Given the description of an element on the screen output the (x, y) to click on. 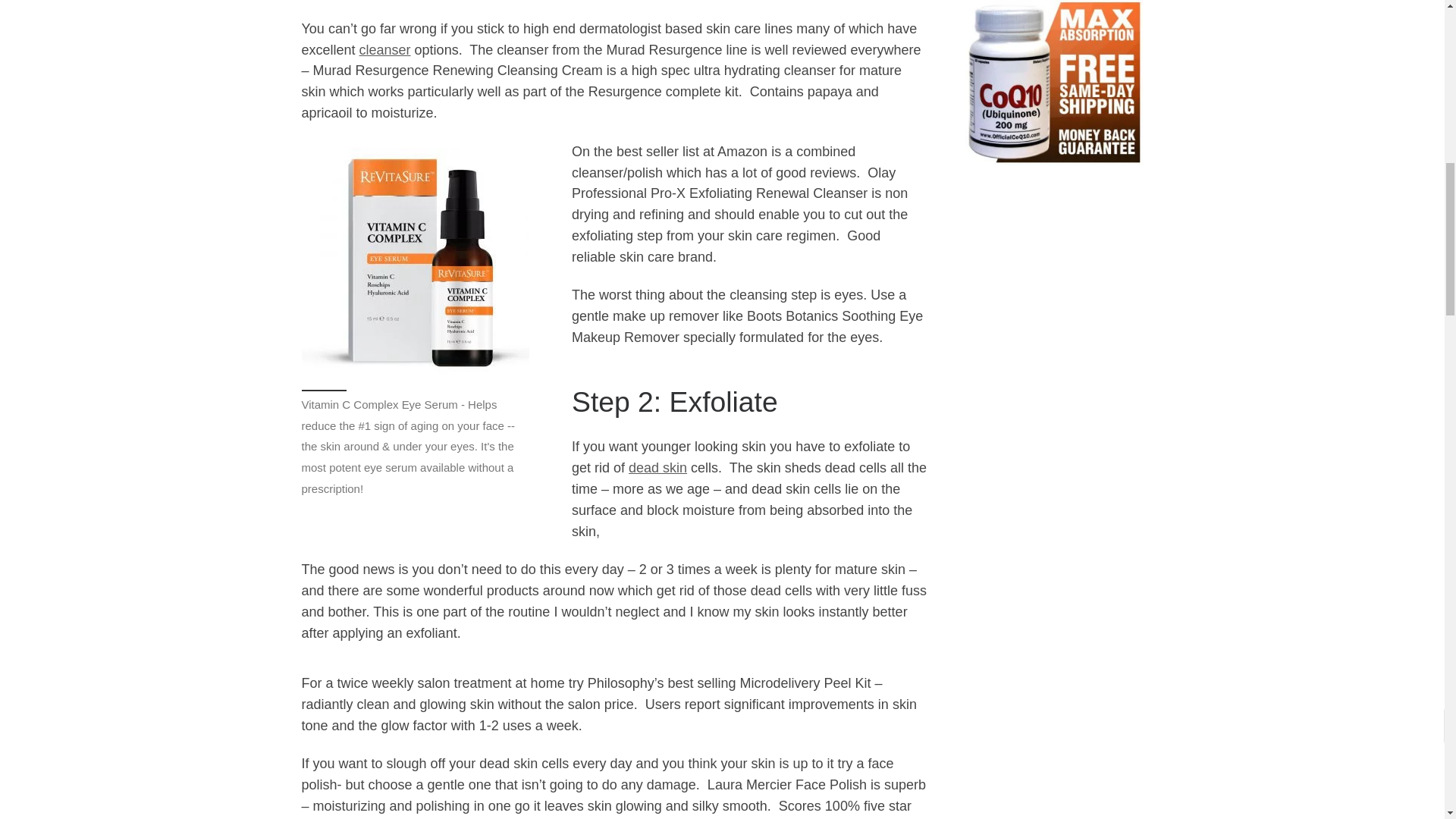
Most Potent Eye Serum Available Without A Prescription (415, 261)
dead skin (657, 467)
cleanser (384, 49)
dead skin (657, 467)
cleanser (384, 49)
